Given the description of an element on the screen output the (x, y) to click on. 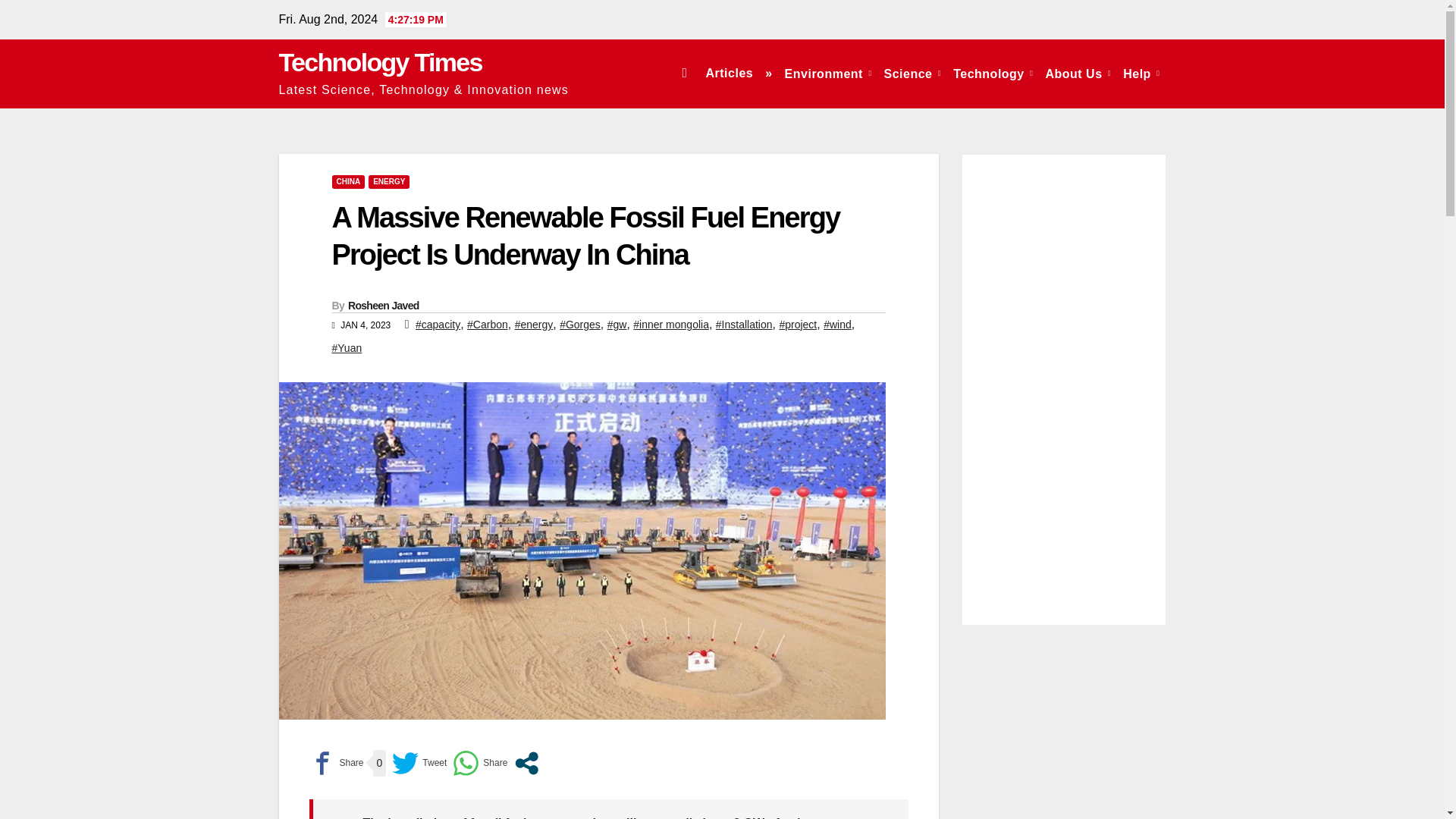
Science (912, 73)
Science (912, 73)
Environment (827, 73)
Technology (993, 73)
Technology (993, 73)
Technology Times (380, 61)
Environment (827, 73)
About Us (1077, 73)
